Given the description of an element on the screen output the (x, y) to click on. 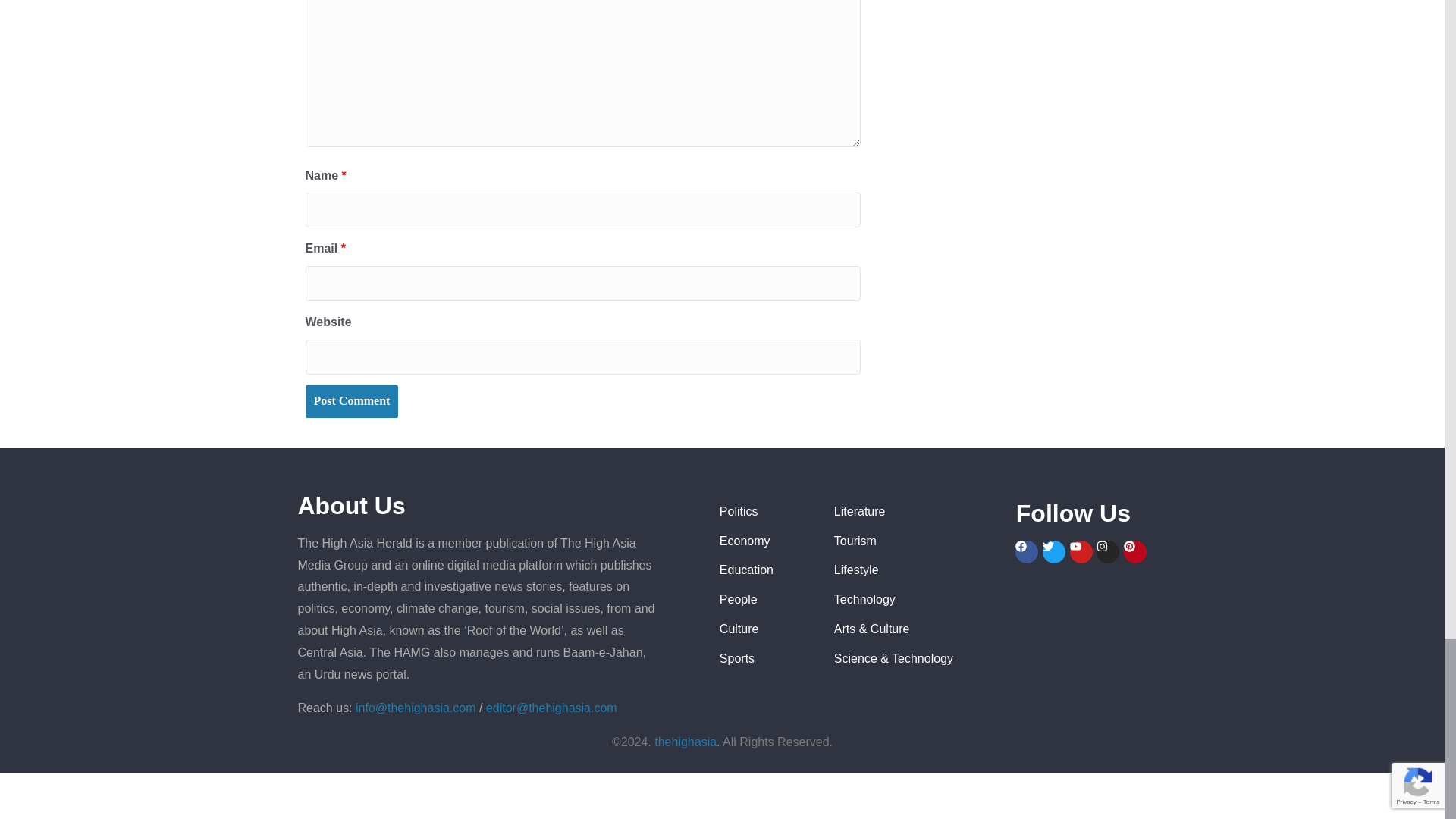
Literature (917, 512)
People (764, 599)
Tourism (917, 541)
Education (764, 570)
Economy (764, 541)
Post Comment (350, 400)
Culture (764, 629)
Politics (764, 512)
Sports (764, 659)
Post Comment (350, 400)
